Given the description of an element on the screen output the (x, y) to click on. 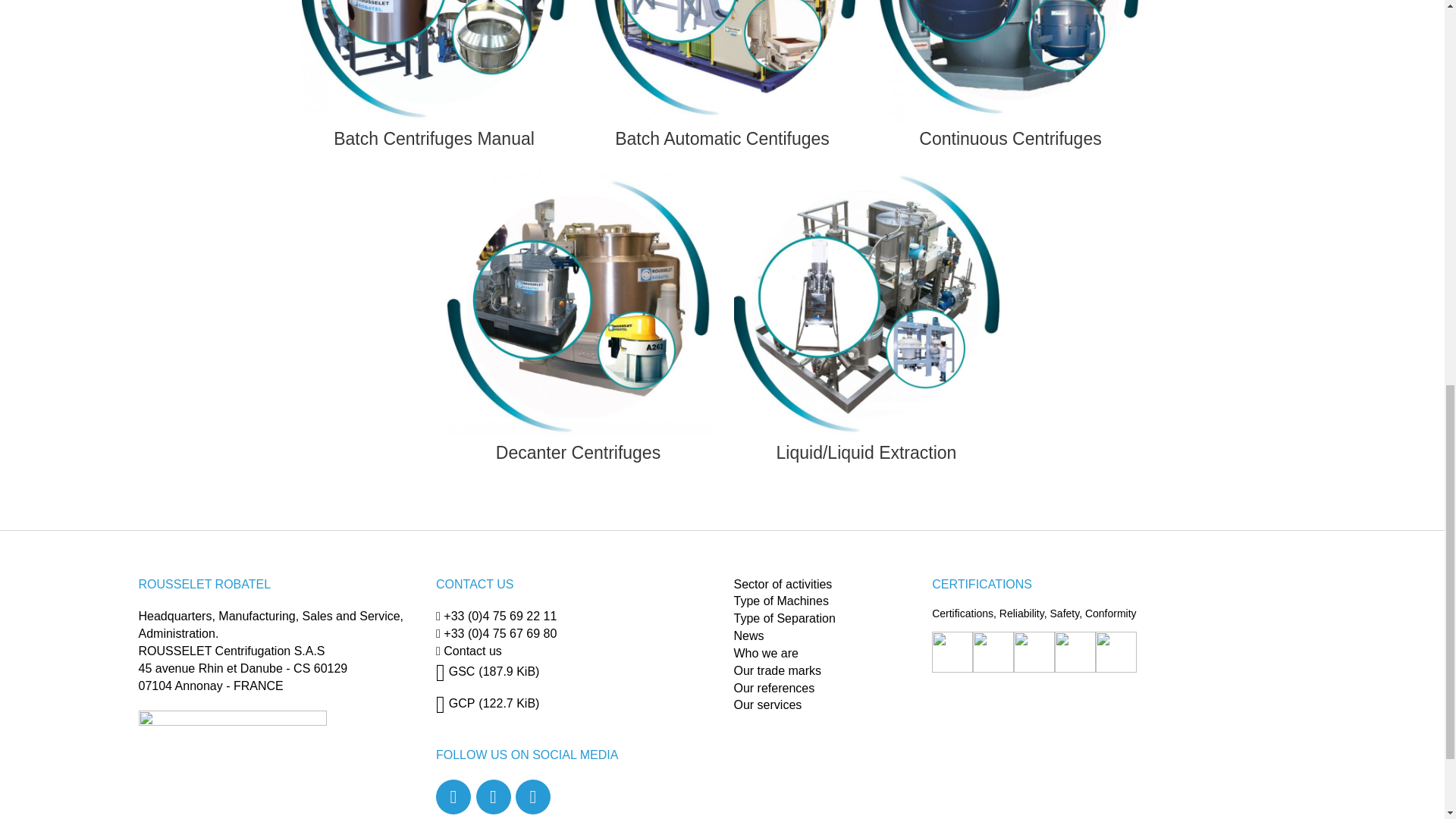
News (748, 635)
Download GENERAL SALES CONDITIONS.pdf (486, 671)
Download CONDITIONS GENERALES D'ACHAT.pdf (486, 703)
Who we are (765, 653)
